Given the description of an element on the screen output the (x, y) to click on. 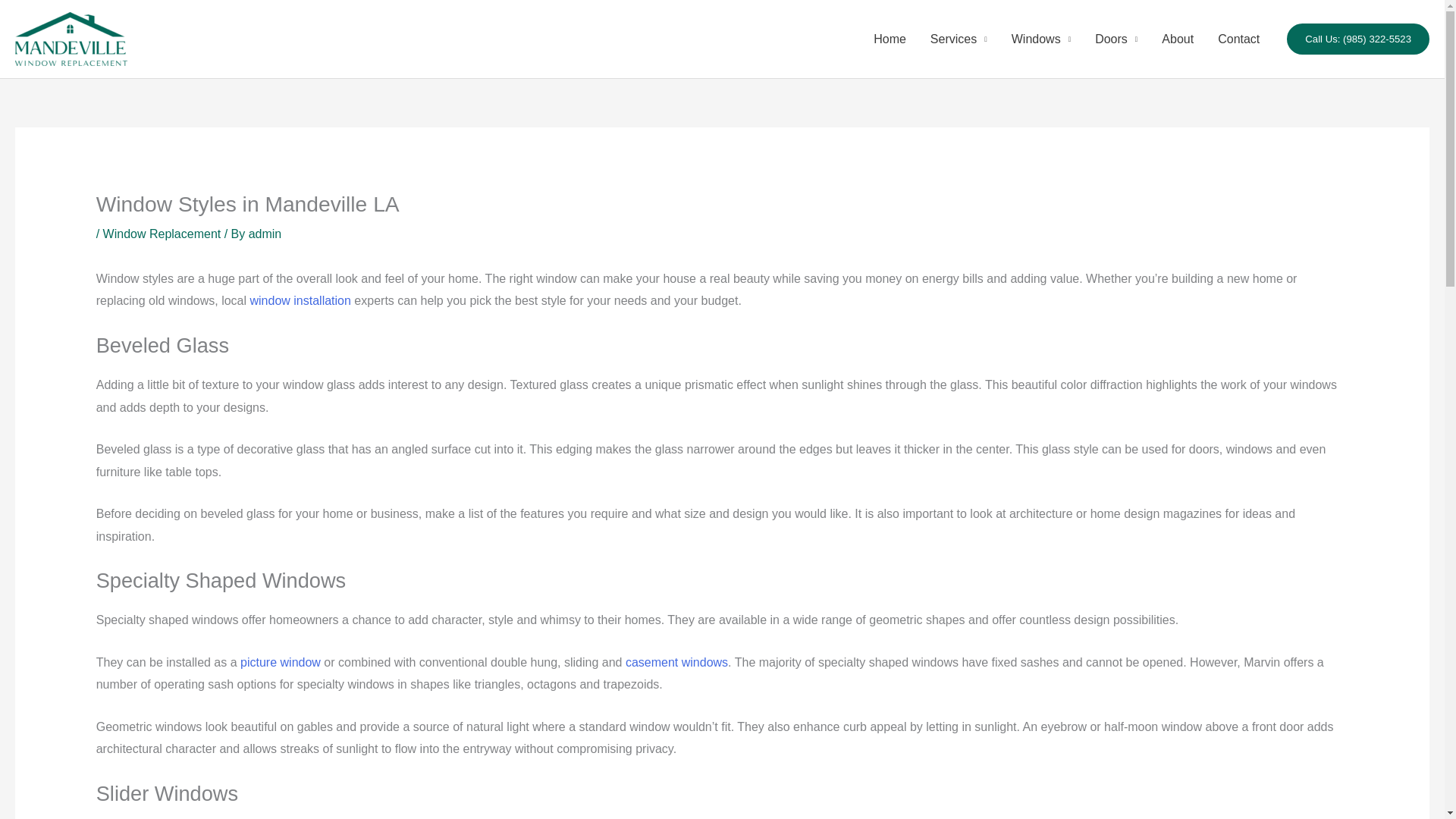
Windows (1040, 38)
Contact (1238, 38)
casement windows (677, 662)
Home (889, 38)
About (1177, 38)
Services (958, 38)
Doors (1116, 38)
View all posts by admin (265, 233)
